Given the description of an element on the screen output the (x, y) to click on. 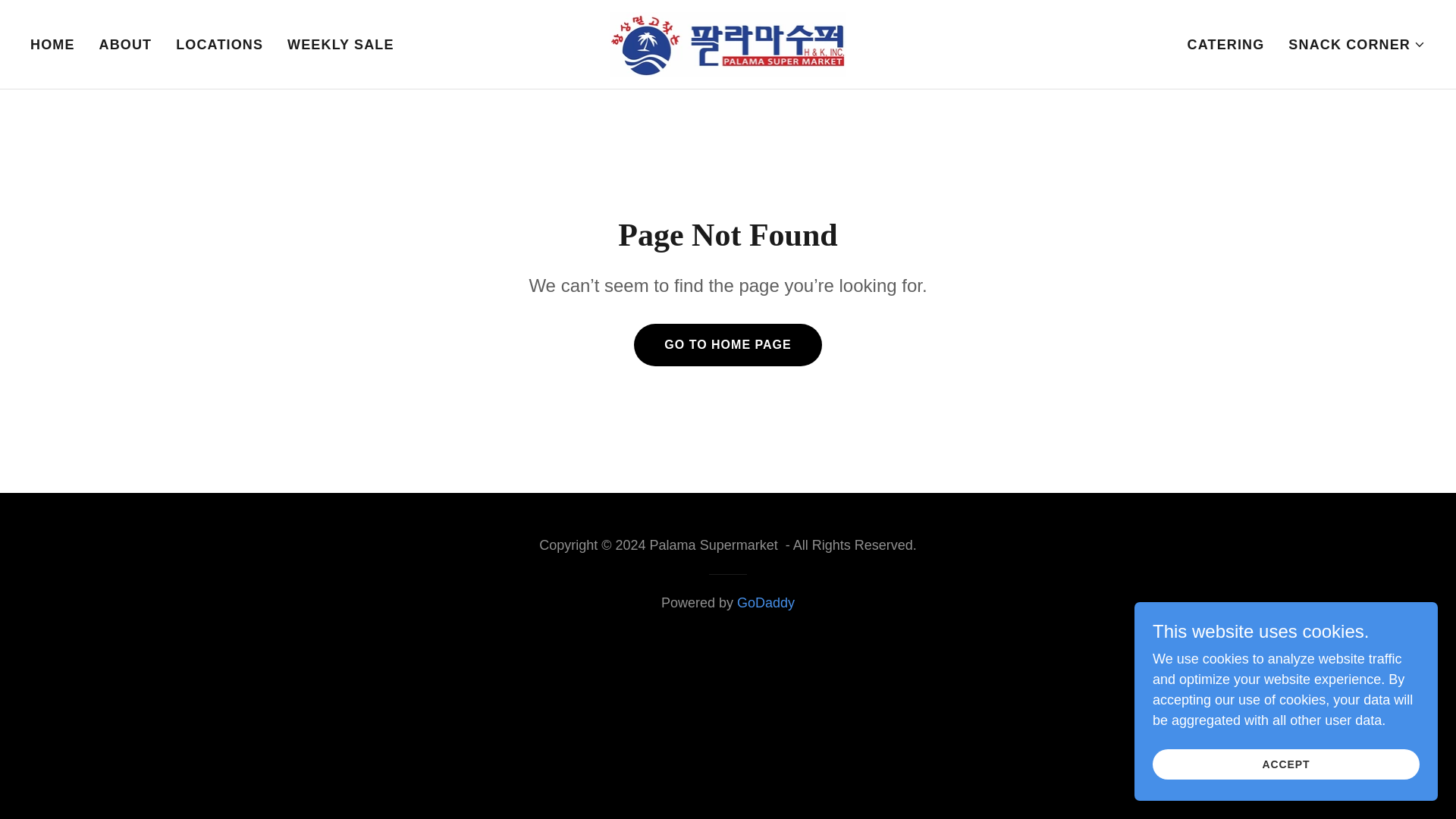
GoDaddy (765, 602)
ABOUT (125, 43)
SNACK CORNER (1356, 44)
ACCEPT (1286, 764)
GO TO HOME PAGE (727, 344)
Palama Supermarket  (728, 43)
LOCATIONS (219, 43)
WEEKLY SALE (340, 43)
HOME (53, 43)
CATERING (1225, 43)
